Given the description of an element on the screen output the (x, y) to click on. 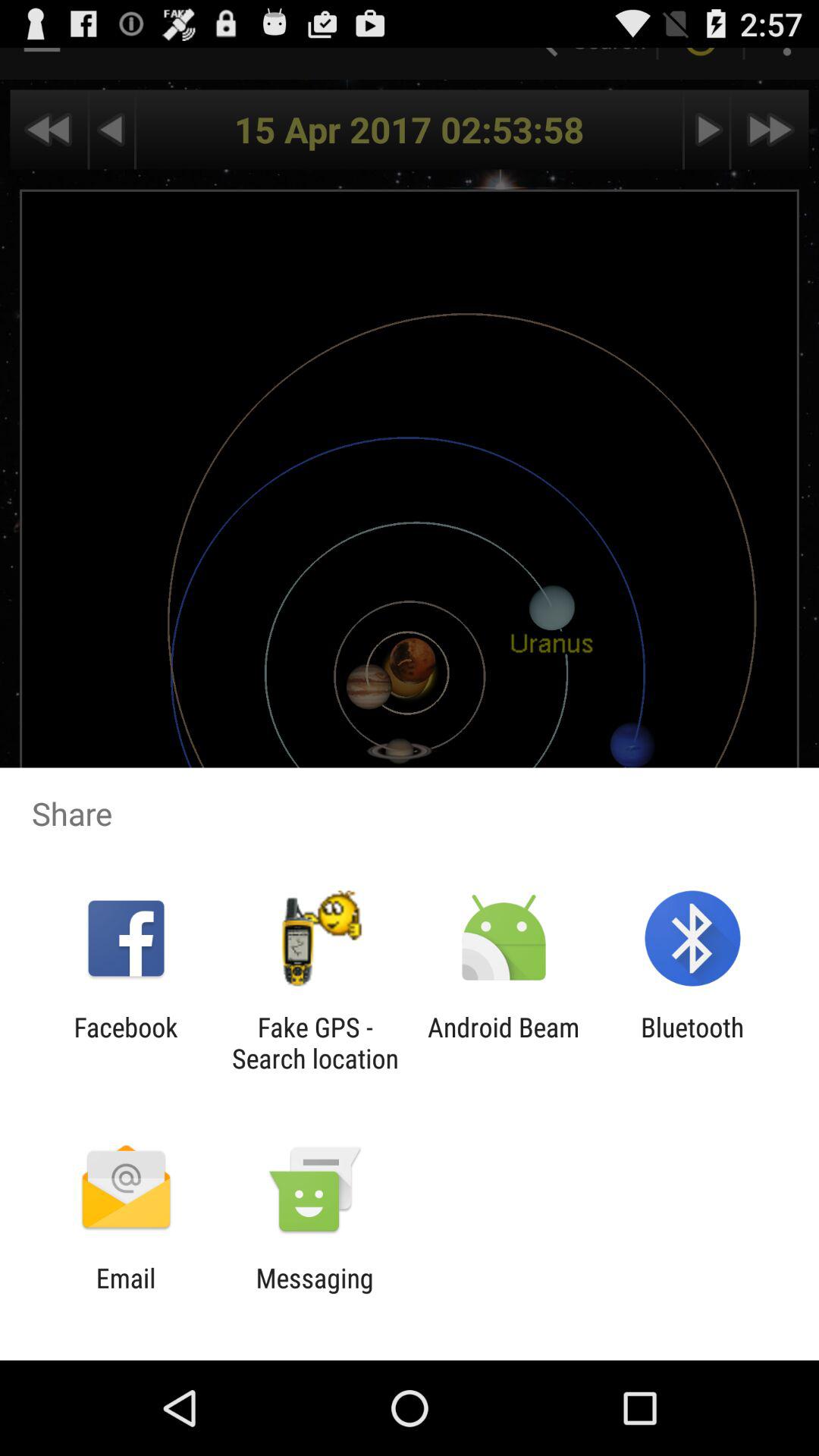
tap messaging (314, 1293)
